Given the description of an element on the screen output the (x, y) to click on. 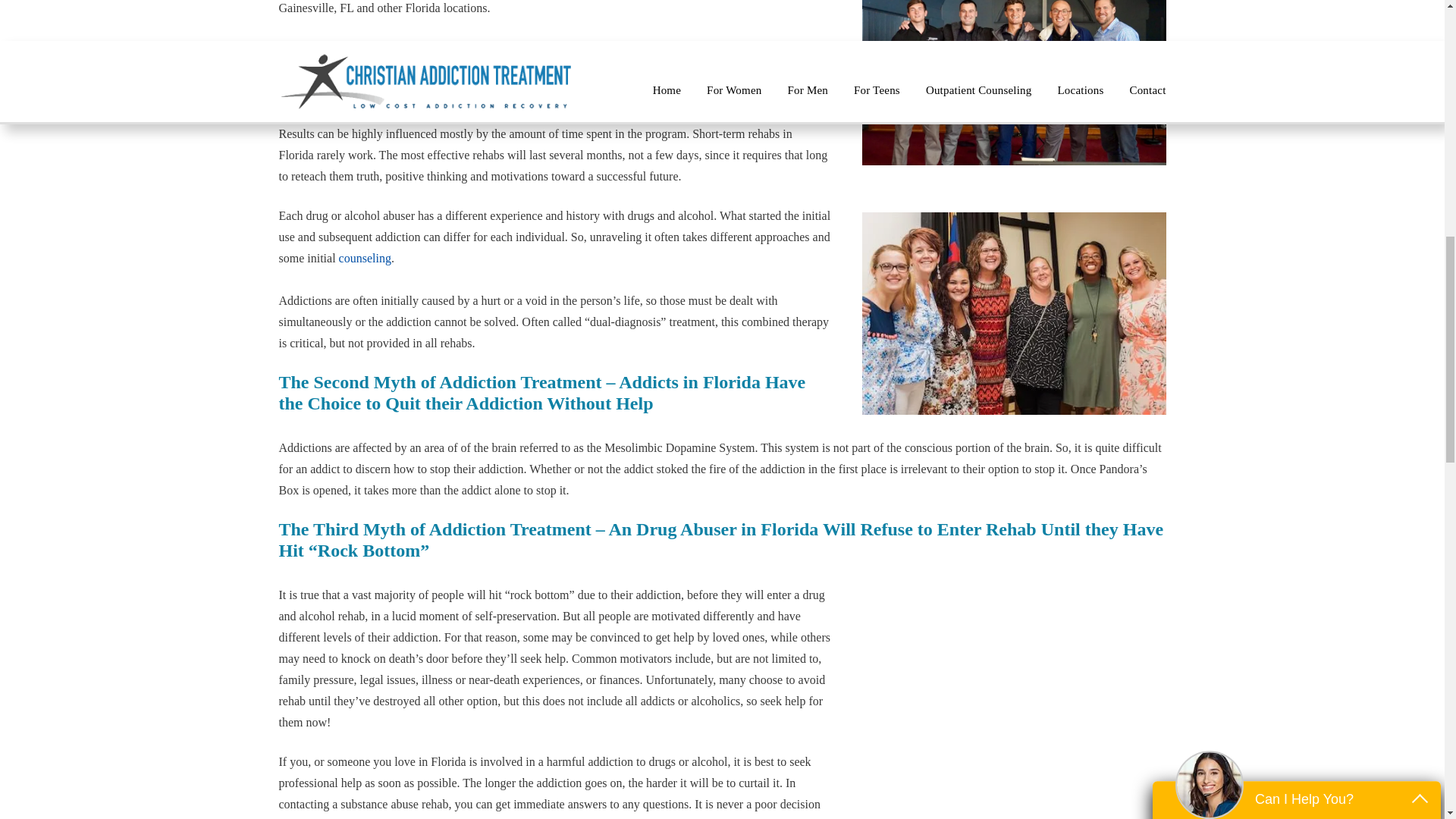
counseling (365, 257)
